Given the description of an element on the screen output the (x, y) to click on. 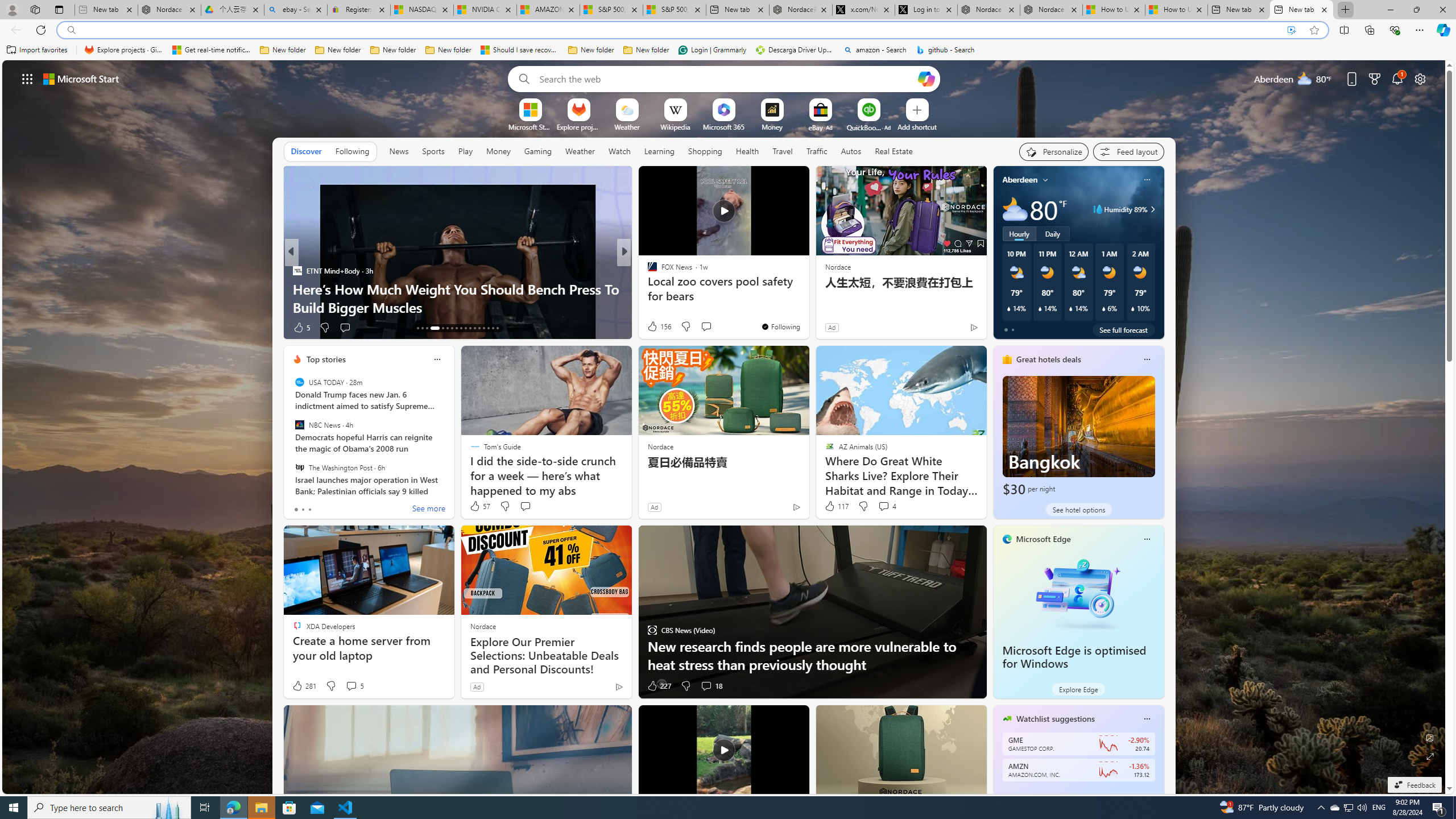
Travel (782, 151)
Should you leave your laptop plugged in? (807, 307)
Class: icon-img (1146, 718)
Autos (850, 151)
2k Like (652, 327)
AutomationID: tab-22 (465, 328)
